Given the description of an element on the screen output the (x, y) to click on. 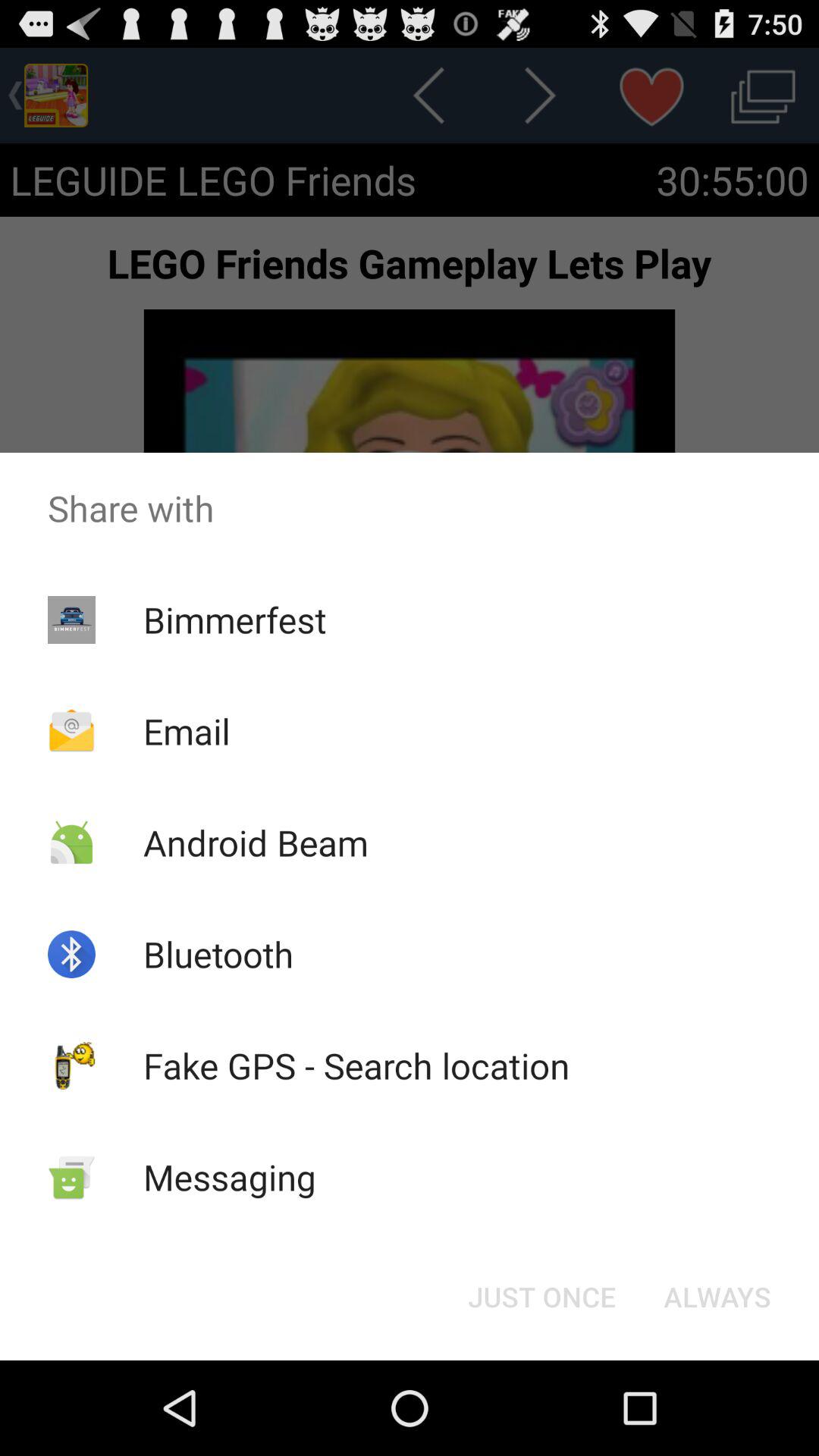
turn on the just once button (541, 1296)
